Given the description of an element on the screen output the (x, y) to click on. 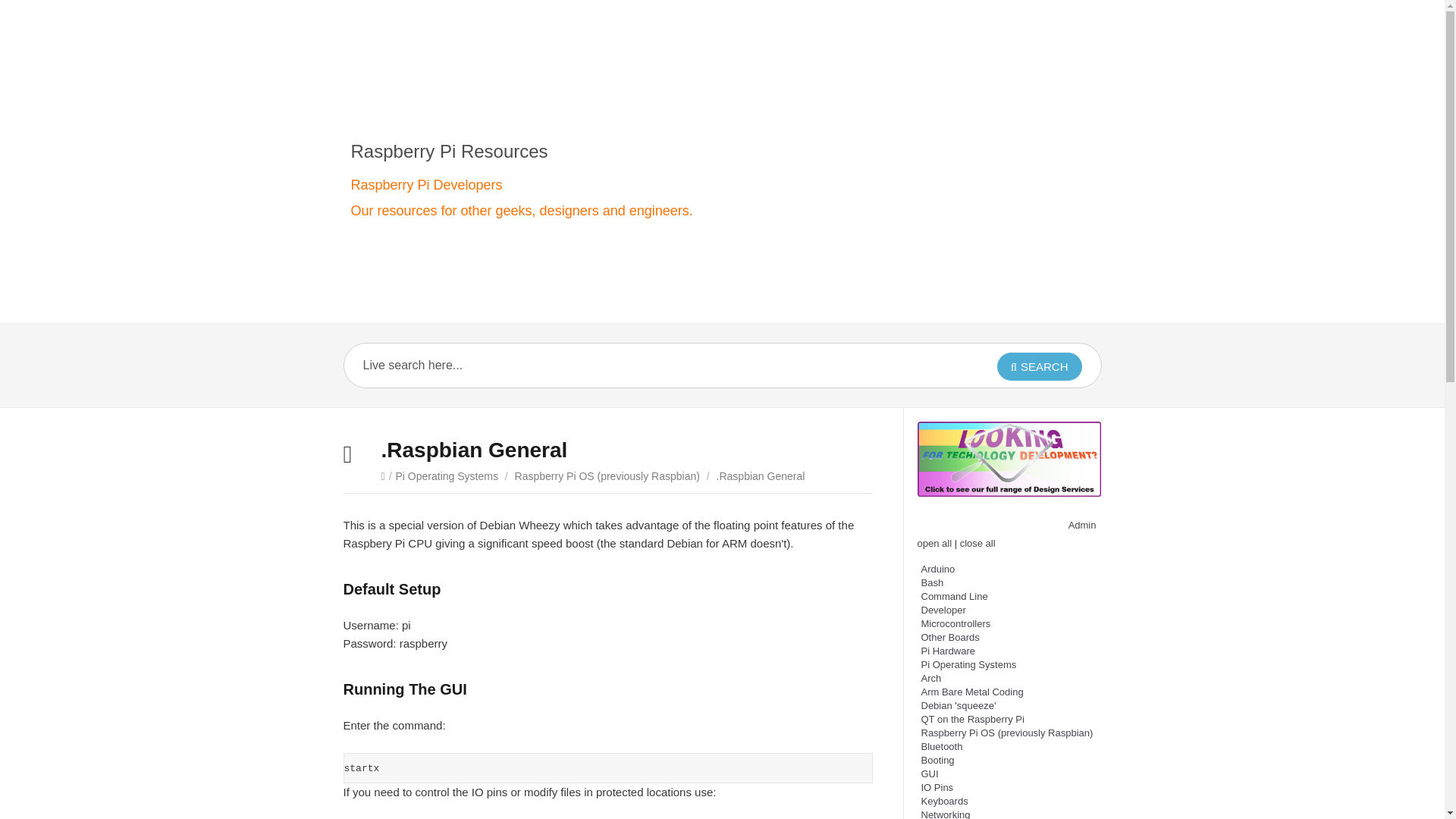
RESOURCES (1021, 91)
HOME (406, 91)
close all (977, 542)
open all (934, 542)
close all (977, 542)
Admin (1082, 524)
open all (934, 542)
Command Line (953, 595)
Arduino (937, 568)
PORTFOLIO (582, 91)
